Given the description of an element on the screen output the (x, y) to click on. 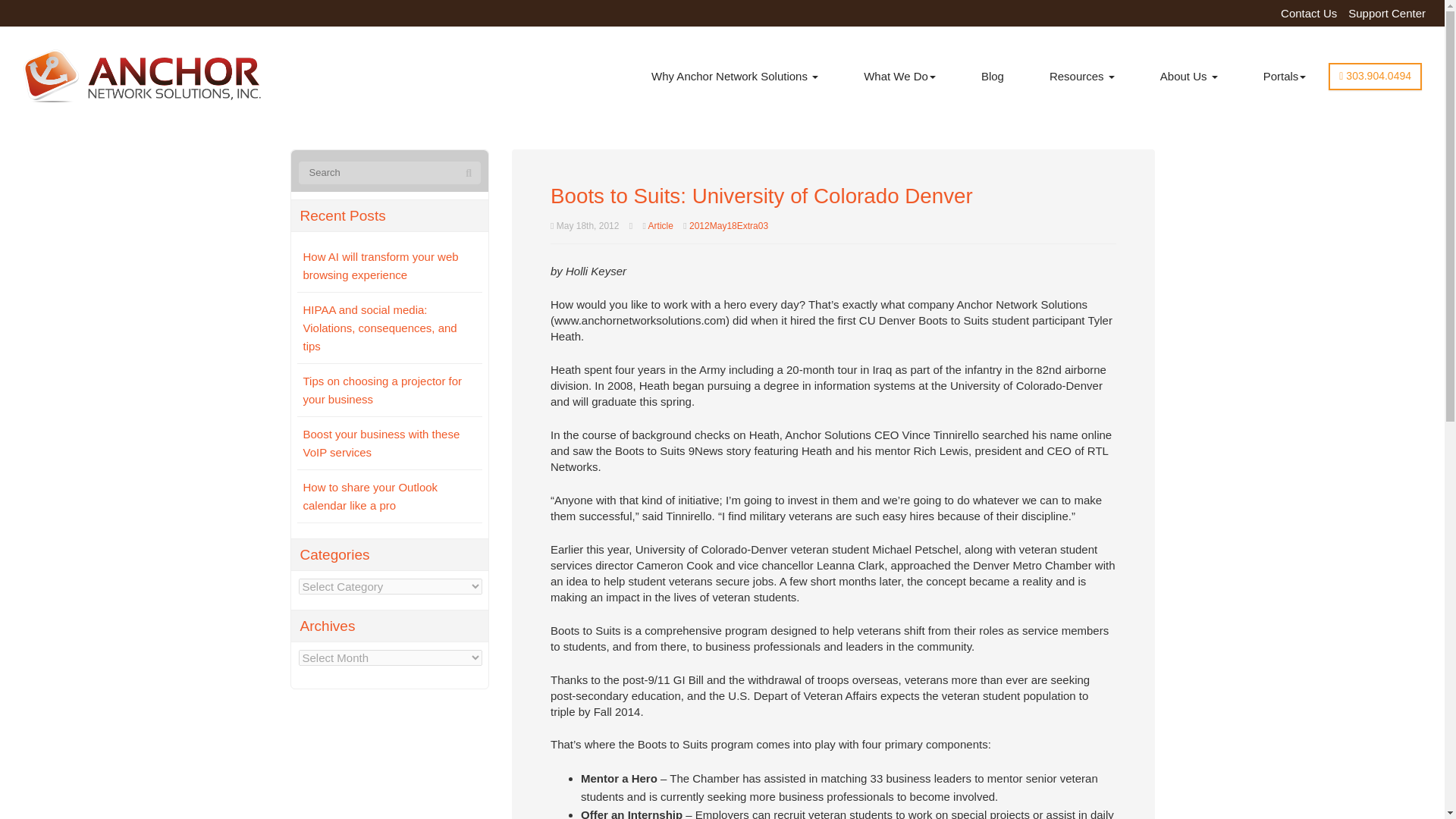
Support Center (1386, 12)
Why Anchor Network Solutions (734, 76)
Contact Us (1308, 12)
Why Anchor Network Solutions (734, 76)
